Given the description of an element on the screen output the (x, y) to click on. 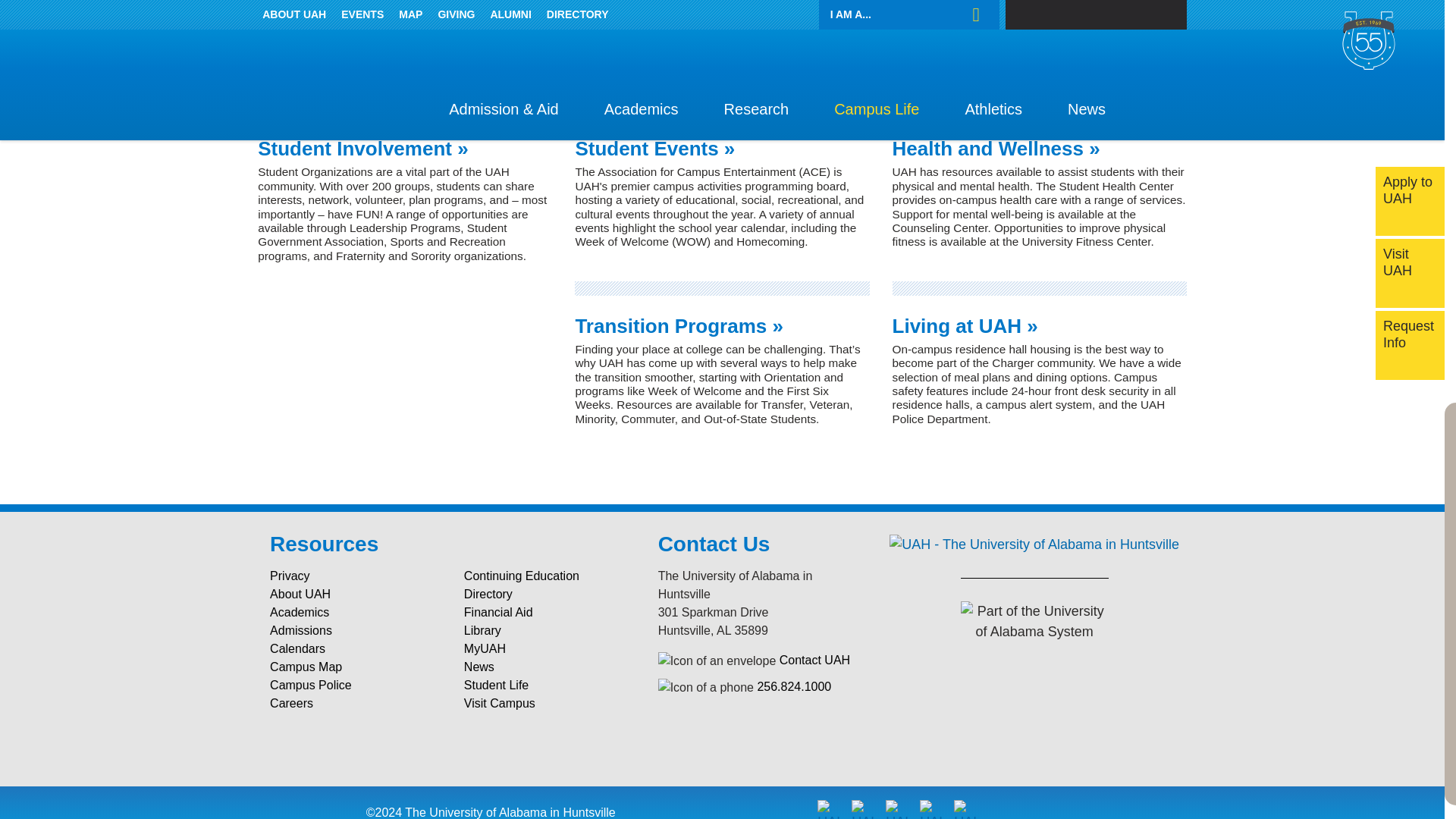
UAH Calendars (355, 648)
UAH Academics (355, 612)
UAH Map (355, 667)
About UAH (355, 594)
UAH Admissions (355, 630)
UAH Continuing Education (549, 576)
UAH Privacy Information (355, 576)
UAH Campus Police (355, 685)
UAH Careers (355, 703)
